Given the description of an element on the screen output the (x, y) to click on. 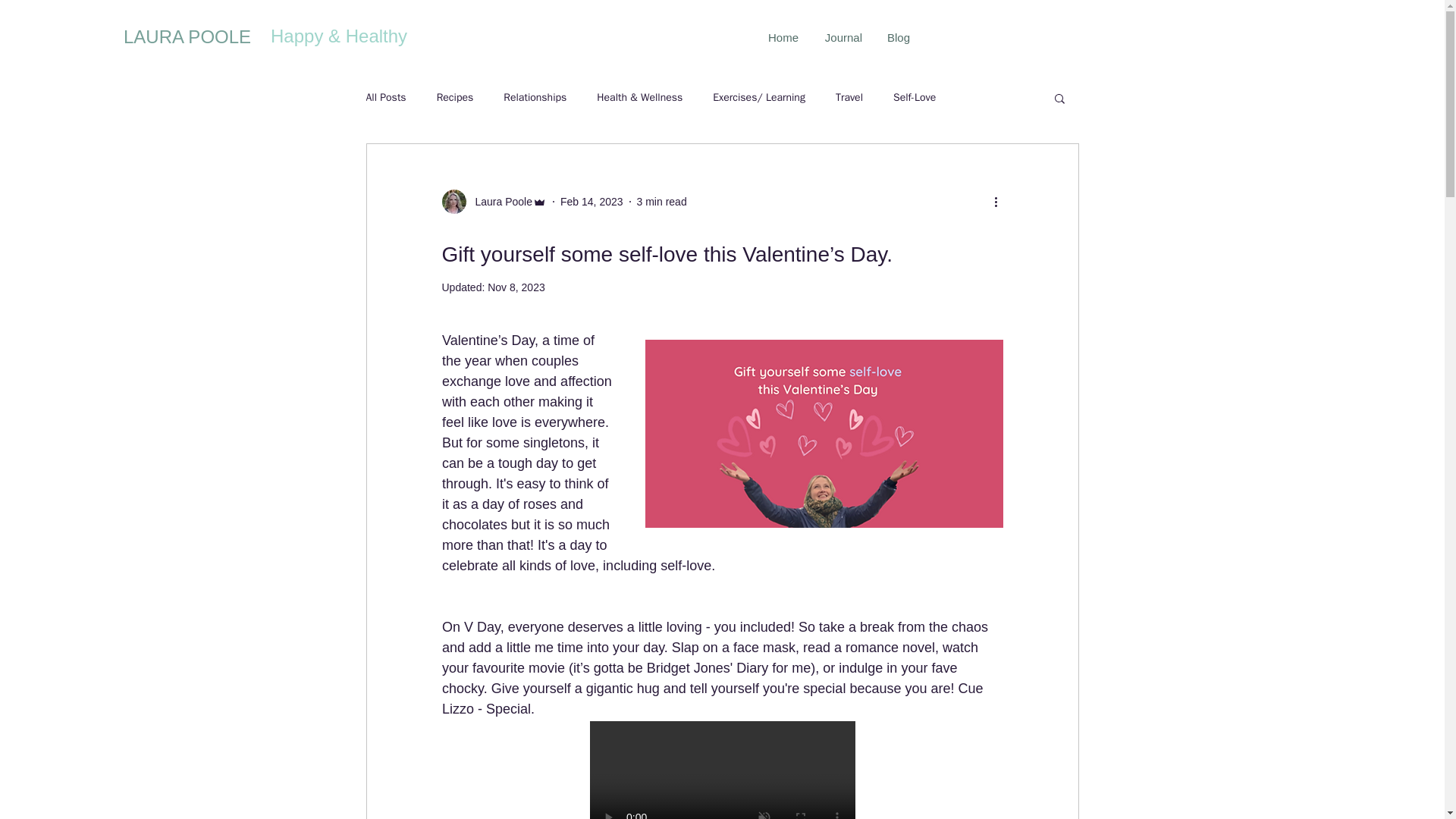
LAURA POOLE (186, 36)
Recipes (455, 97)
Feb 14, 2023 (591, 201)
3 min read (662, 201)
Travel (849, 97)
Laura Poole (498, 201)
Blog (897, 37)
All Posts (385, 97)
Home (781, 37)
Nov 8, 2023 (515, 287)
